Given the description of an element on the screen output the (x, y) to click on. 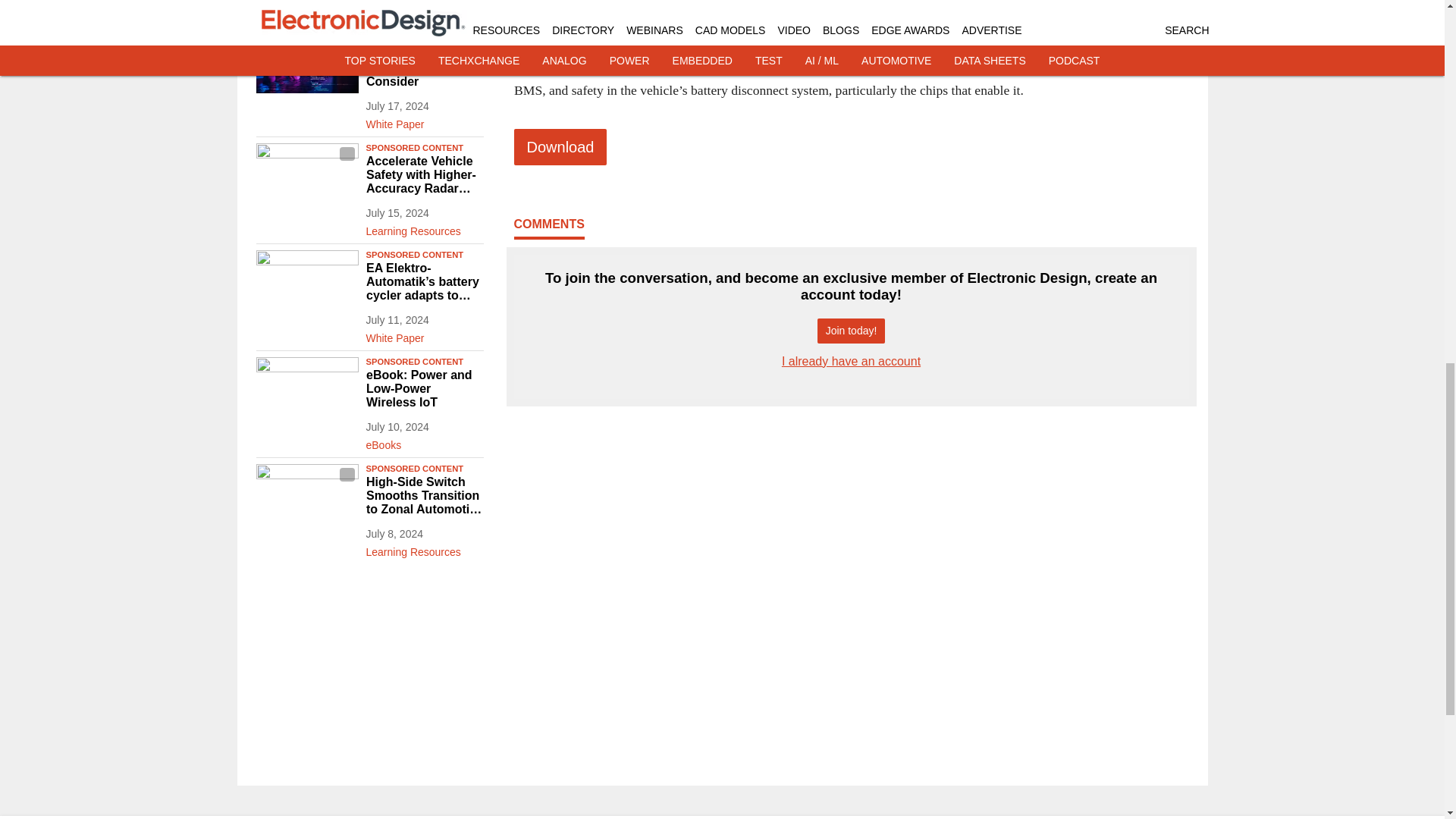
Accelerate Vehicle Safety with Higher-Accuracy Radar Systems (424, 174)
White Paper (424, 13)
The Right OS For You: 10 Things to Consider (424, 67)
White Paper (424, 334)
Learning Resources (424, 228)
White Paper (424, 121)
